Given the description of an element on the screen output the (x, y) to click on. 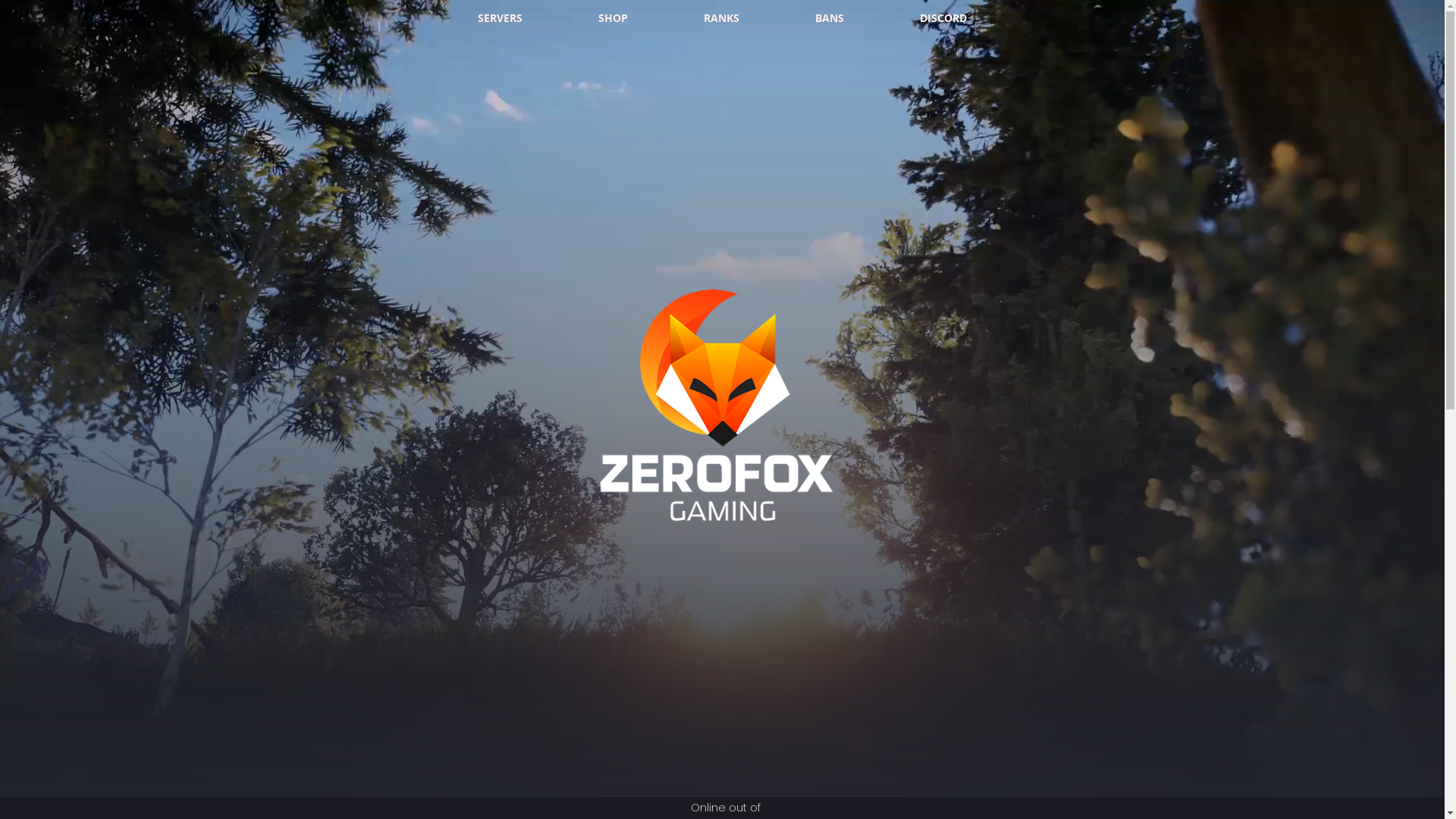
SHOP Element type: text (612, 17)
BANS Element type: text (829, 17)
DISCORD Element type: text (942, 17)
RANKS Element type: text (721, 17)
SERVERS Element type: text (499, 17)
